Given the description of an element on the screen output the (x, y) to click on. 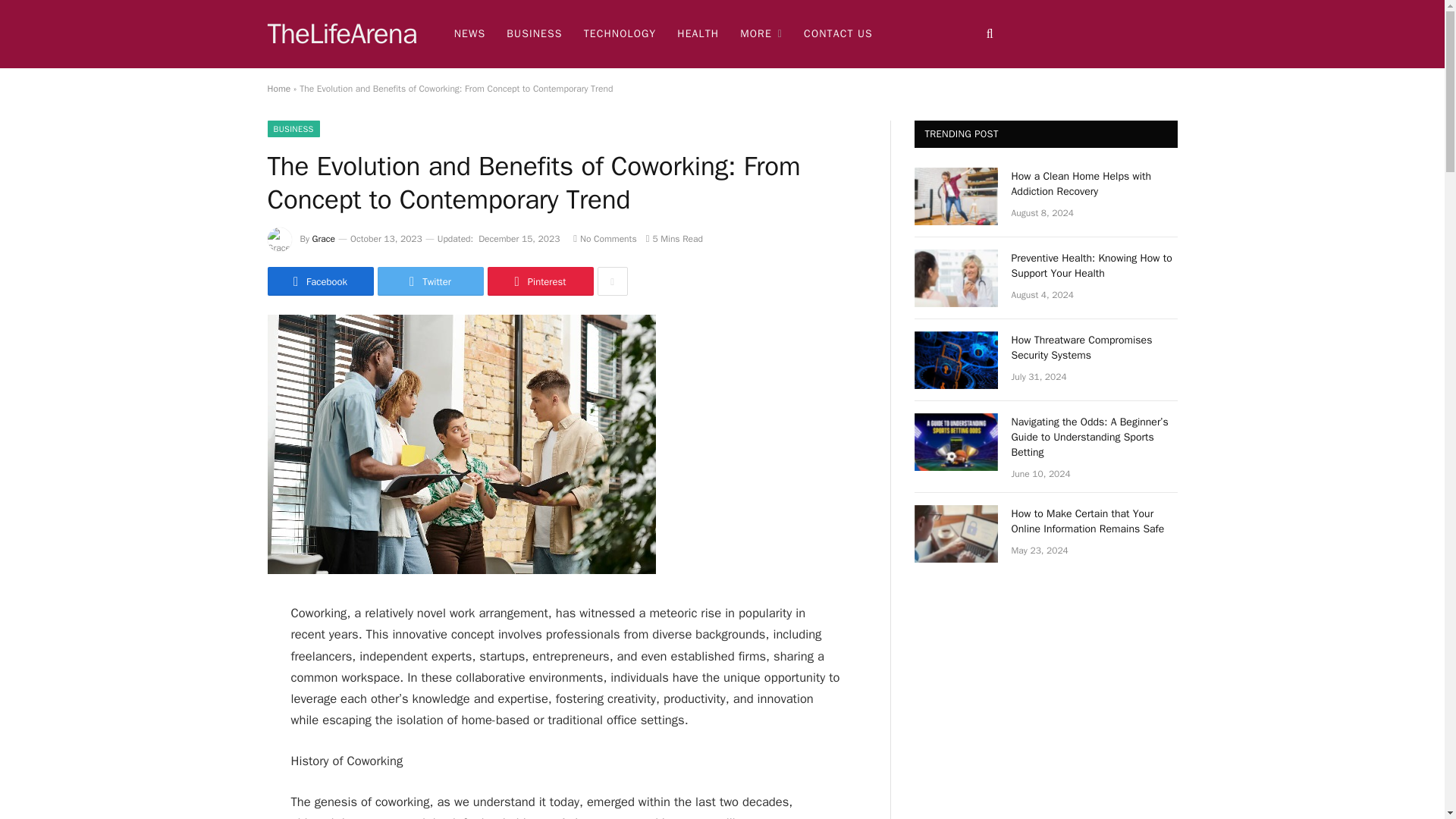
Show More Social Sharing (611, 280)
MORE (761, 33)
BUSINESS (534, 33)
Share on Facebook (319, 280)
Share on Pinterest (539, 280)
CONTACT US (838, 33)
HEALTH (697, 33)
TheLifeArena (341, 34)
Posts by Grace (323, 238)
TECHNOLOGY (619, 33)
